Given the description of an element on the screen output the (x, y) to click on. 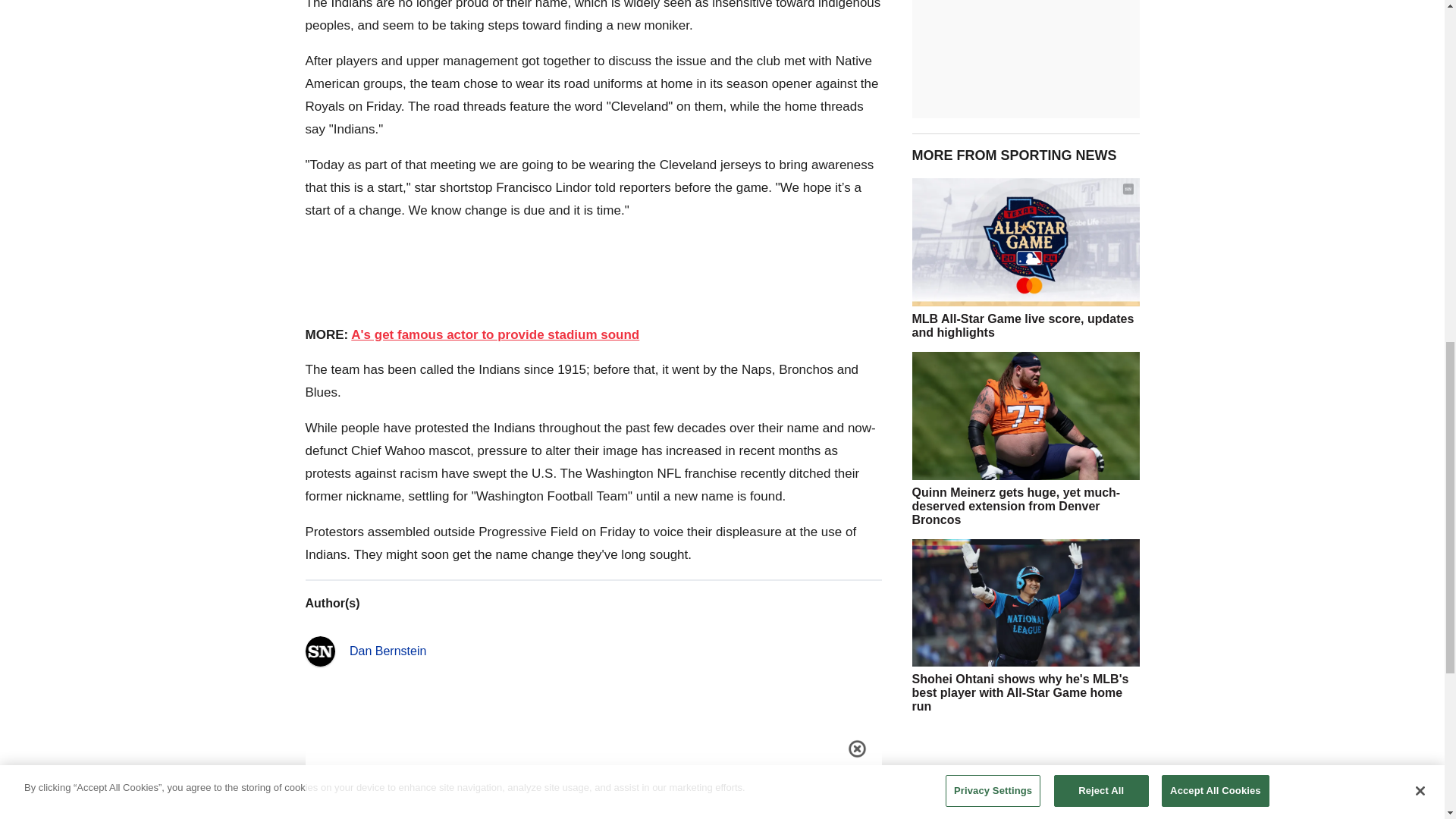
3rd party ad content (1024, 772)
MLB All-Star Game 2024 logo (1024, 242)
